Given the description of an element on the screen output the (x, y) to click on. 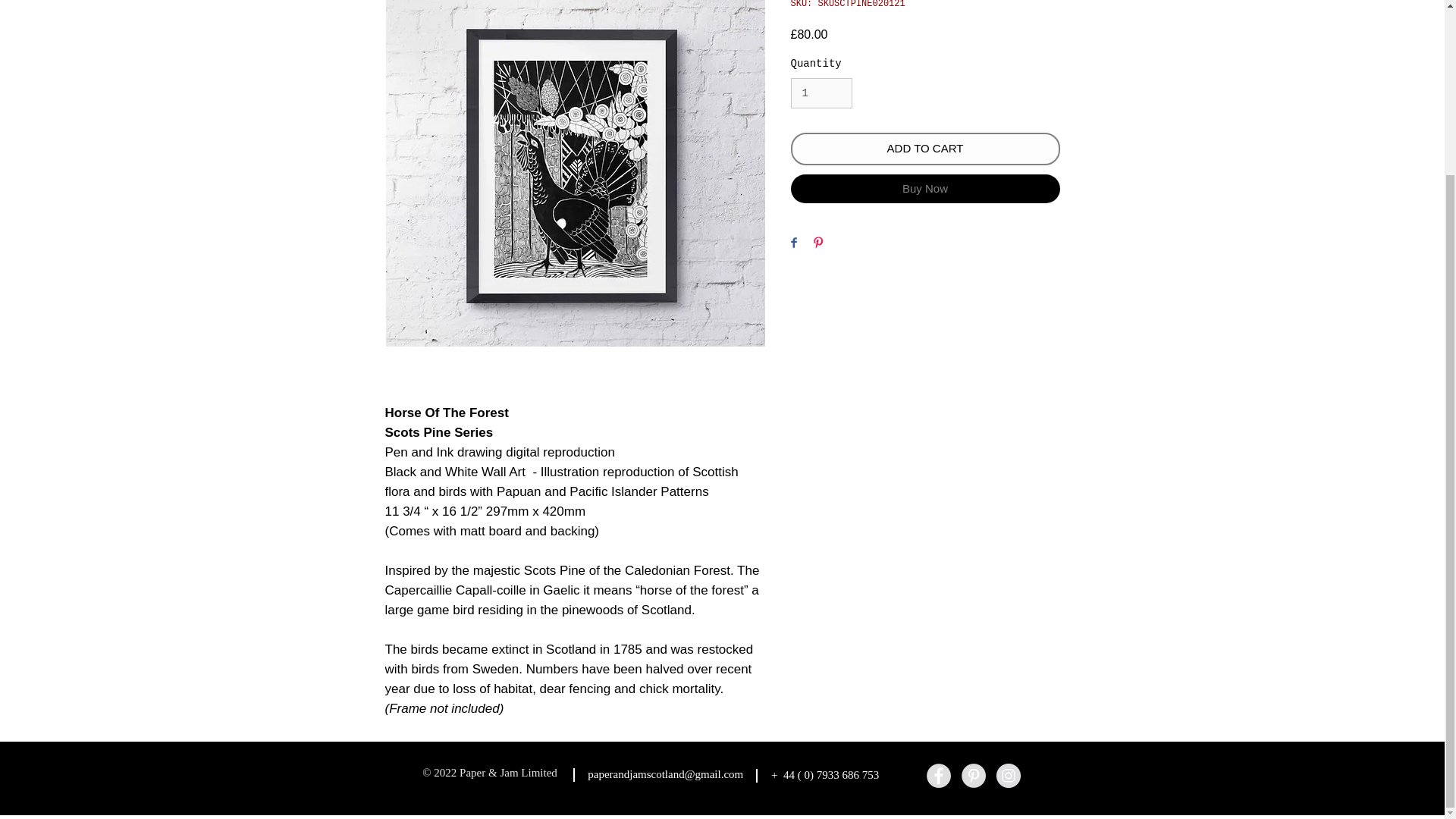
1 (820, 92)
Buy Now (924, 188)
ADD TO CART (924, 148)
